Given the description of an element on the screen output the (x, y) to click on. 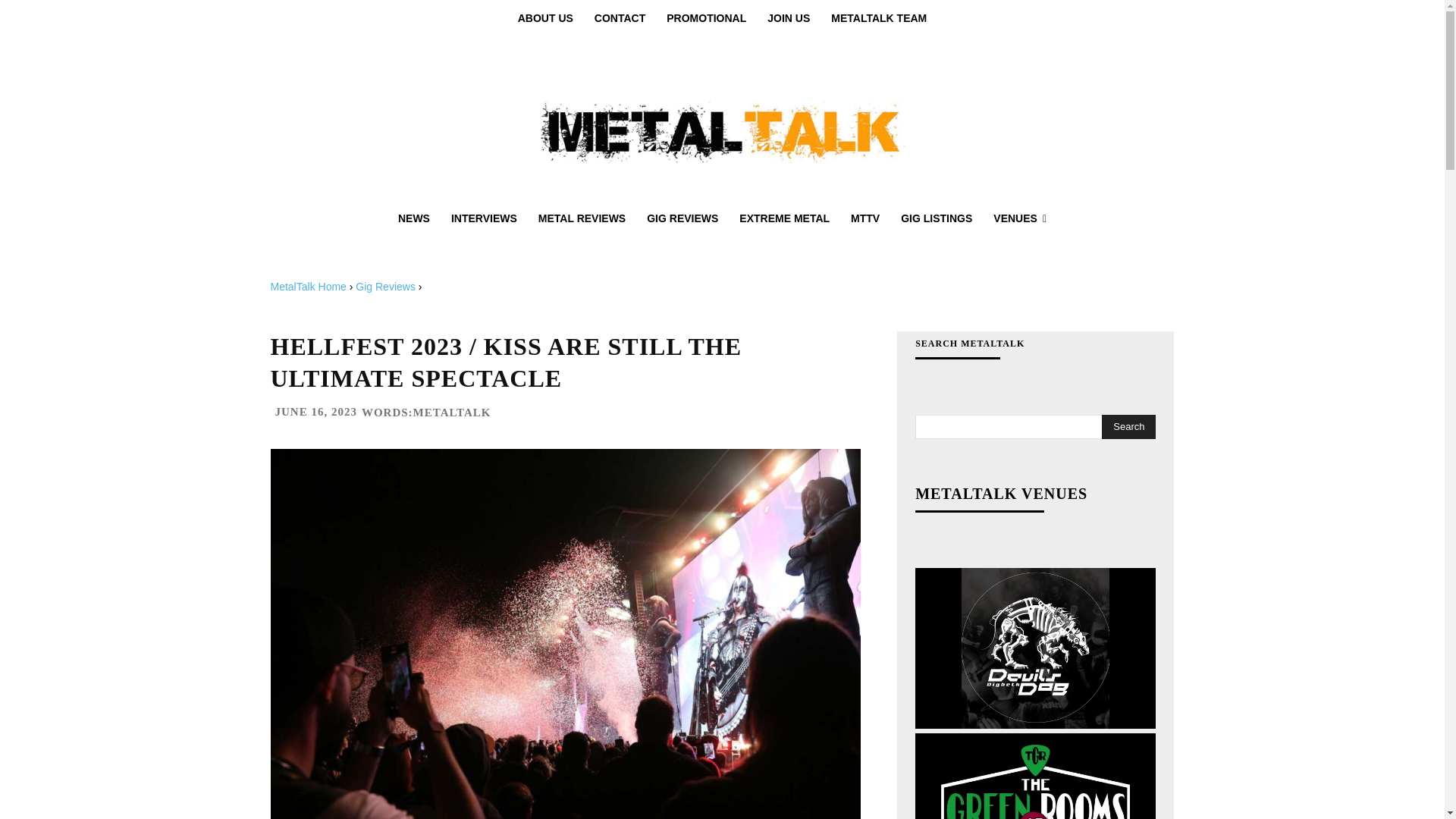
ABOUT US (544, 18)
VENUES (1019, 217)
MTTV (864, 217)
NEWS (414, 217)
JOIN US (789, 18)
INTERVIEWS (484, 217)
MetalTalk Home (307, 286)
GIG LISTINGS (935, 217)
CONTACT (619, 18)
EXTREME METAL (784, 217)
